Given the description of an element on the screen output the (x, y) to click on. 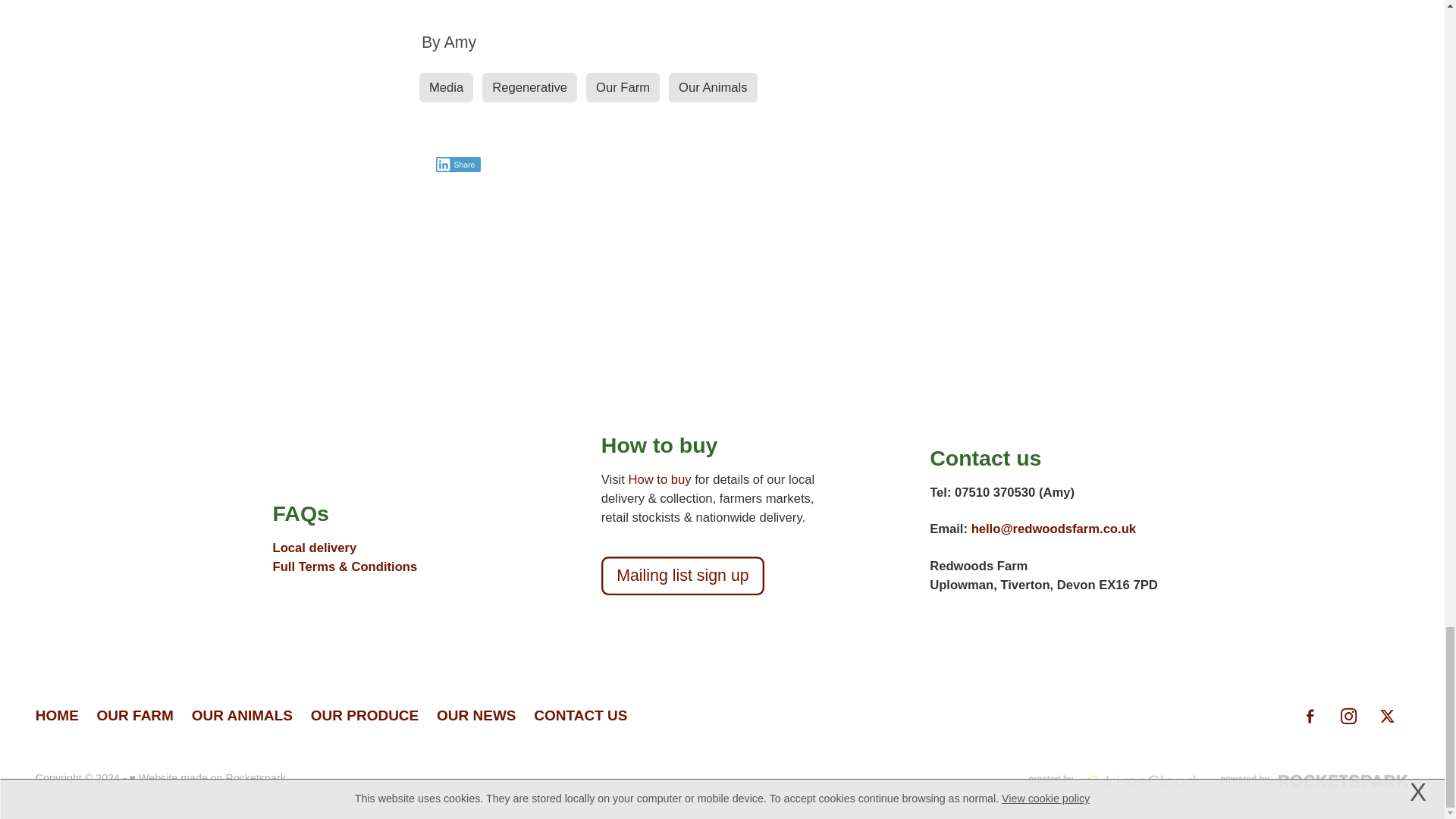
A link to this website's X. (1387, 716)
A link to this website's Facebook. (1309, 716)
A link to this website's Instagram. (1348, 716)
